Given the description of an element on the screen output the (x, y) to click on. 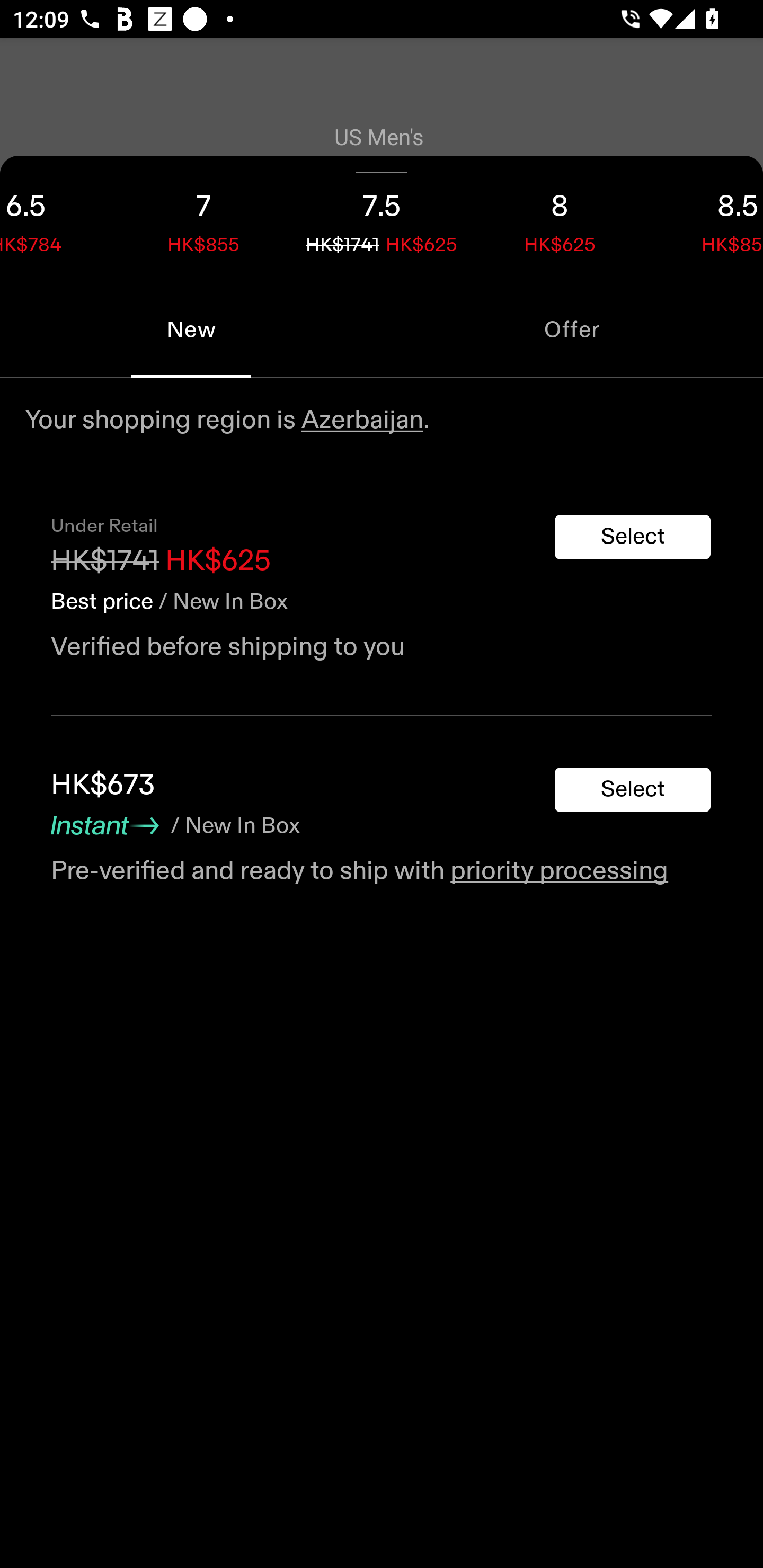
6.5 HK$784 (57, 218)
7 HK$855 (203, 218)
7.5 HK$1741 HK$625 (381, 218)
8 HK$625 (559, 218)
8.5 HK$855 (705, 218)
Offer (572, 329)
Select (632, 536)
HK$673 (102, 785)
Select (632, 789)
